Given the description of an element on the screen output the (x, y) to click on. 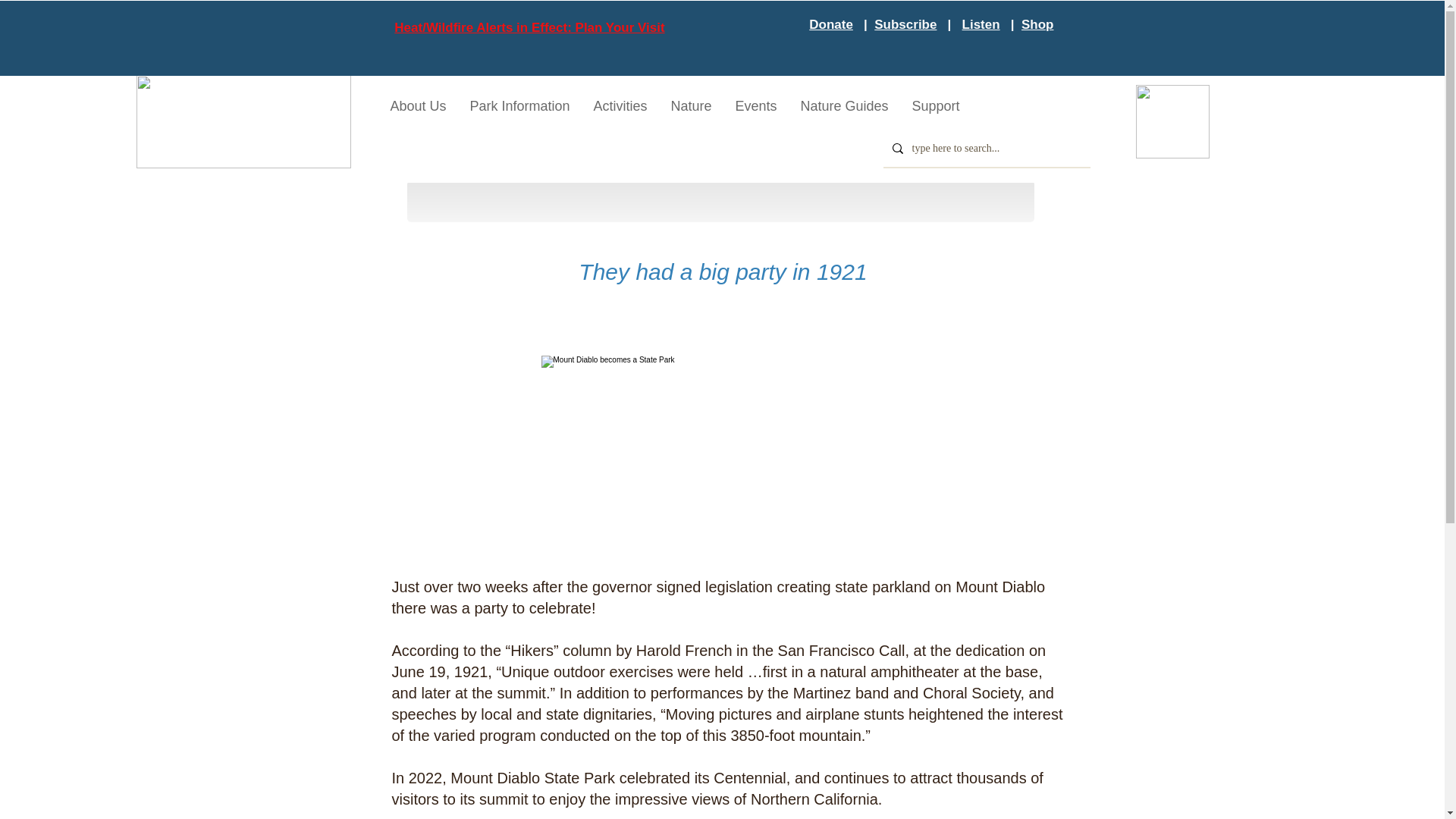
Donate (831, 24)
Mount Diablo becomes a State Park (722, 456)
Nature (690, 106)
Subscribe (905, 24)
Park Information (519, 106)
Shop (1038, 24)
Listen (981, 24)
Activities (619, 106)
About Us (417, 106)
MDIA logo with slogan and name.jpeg (243, 121)
